Given the description of an element on the screen output the (x, y) to click on. 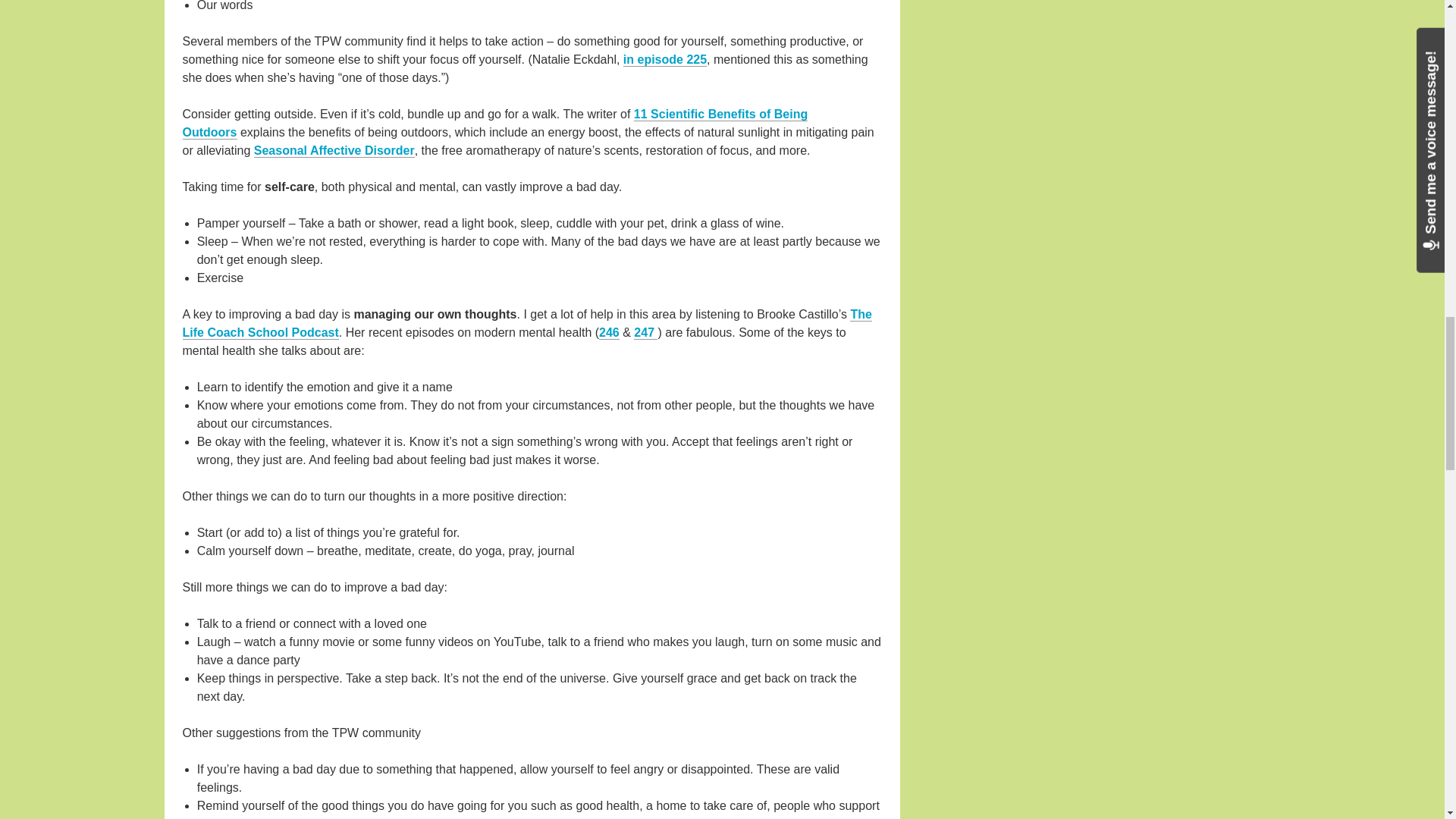
in episode 225 (664, 59)
